Given the description of an element on the screen output the (x, y) to click on. 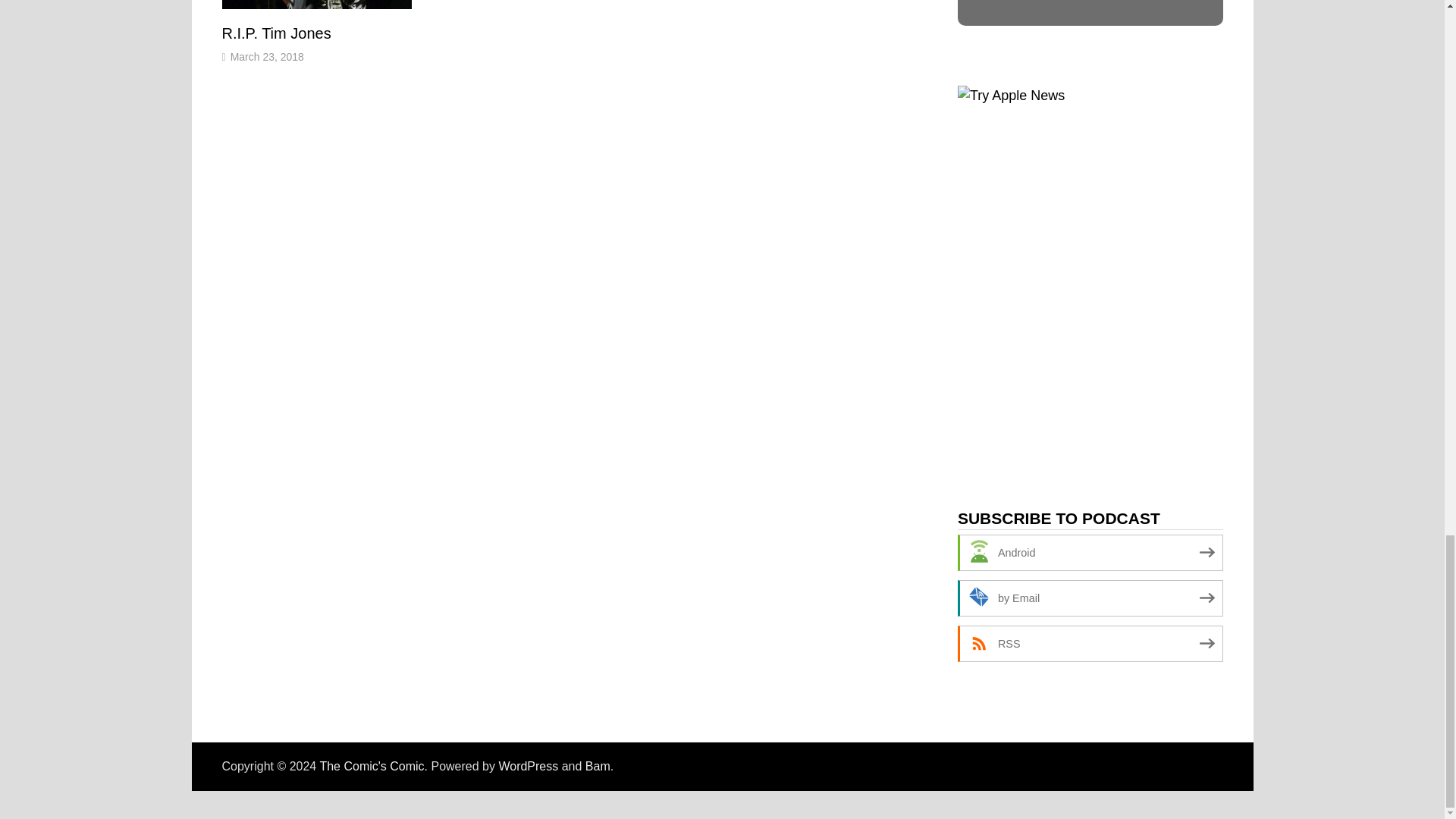
R.I.P. Tim Jones (275, 33)
Subscribe via RSS (1090, 643)
March 23, 2018 (267, 56)
The Comic's Comic (370, 766)
Subscribe by Email (1090, 597)
Subscribe on Android (1090, 552)
R.I.P. Tim Jones (275, 33)
